Given the description of an element on the screen output the (x, y) to click on. 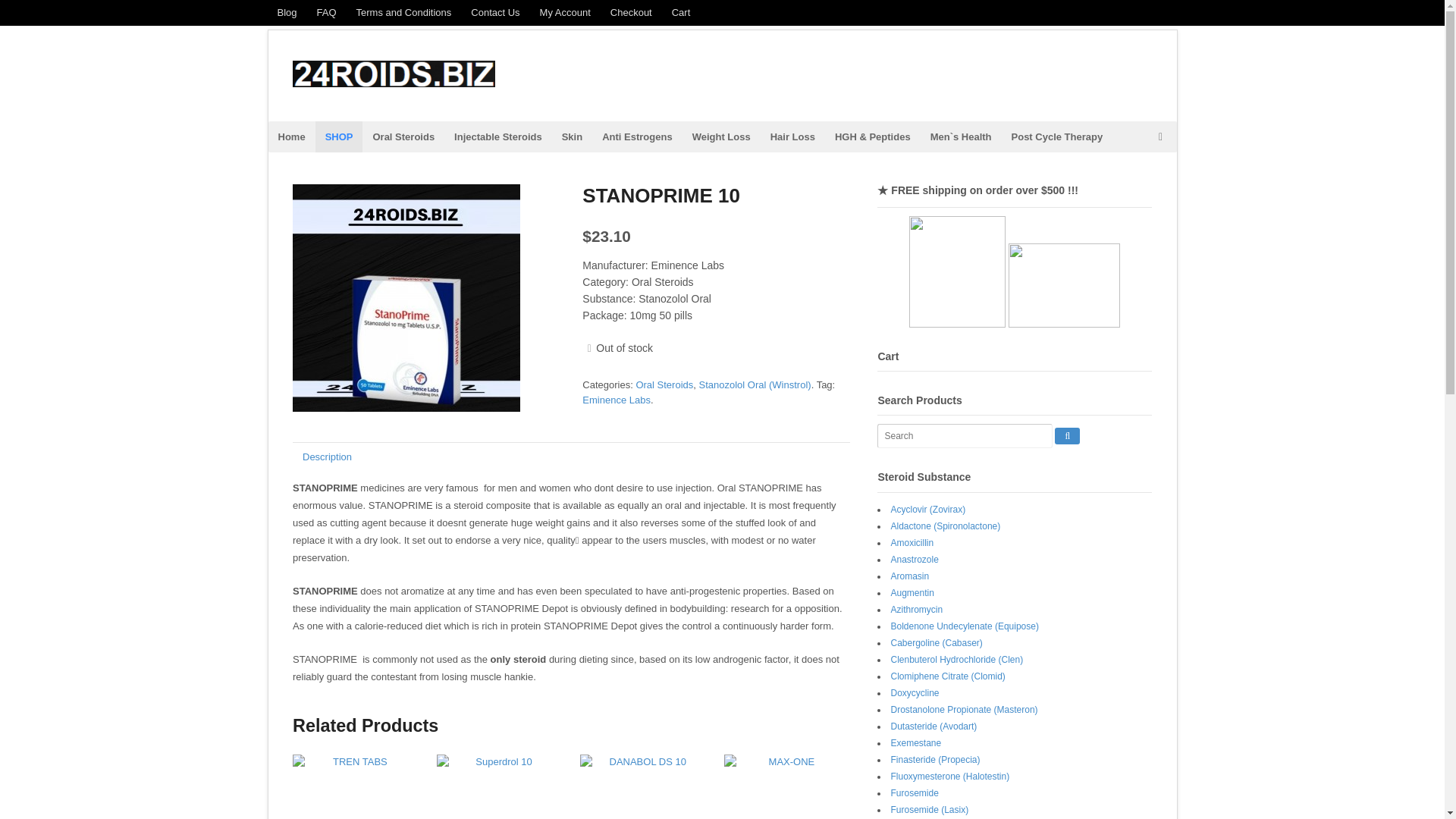
Contact Us (495, 12)
Injectable Steroids (497, 137)
View your shopping cart (1160, 137)
Cart (681, 12)
My Account (564, 12)
Home (291, 137)
STANOPRIME 10 (426, 297)
STANOPRIME 10 (405, 297)
Blog (285, 12)
24ROIDS.BIZ (386, 101)
